Given the description of an element on the screen output the (x, y) to click on. 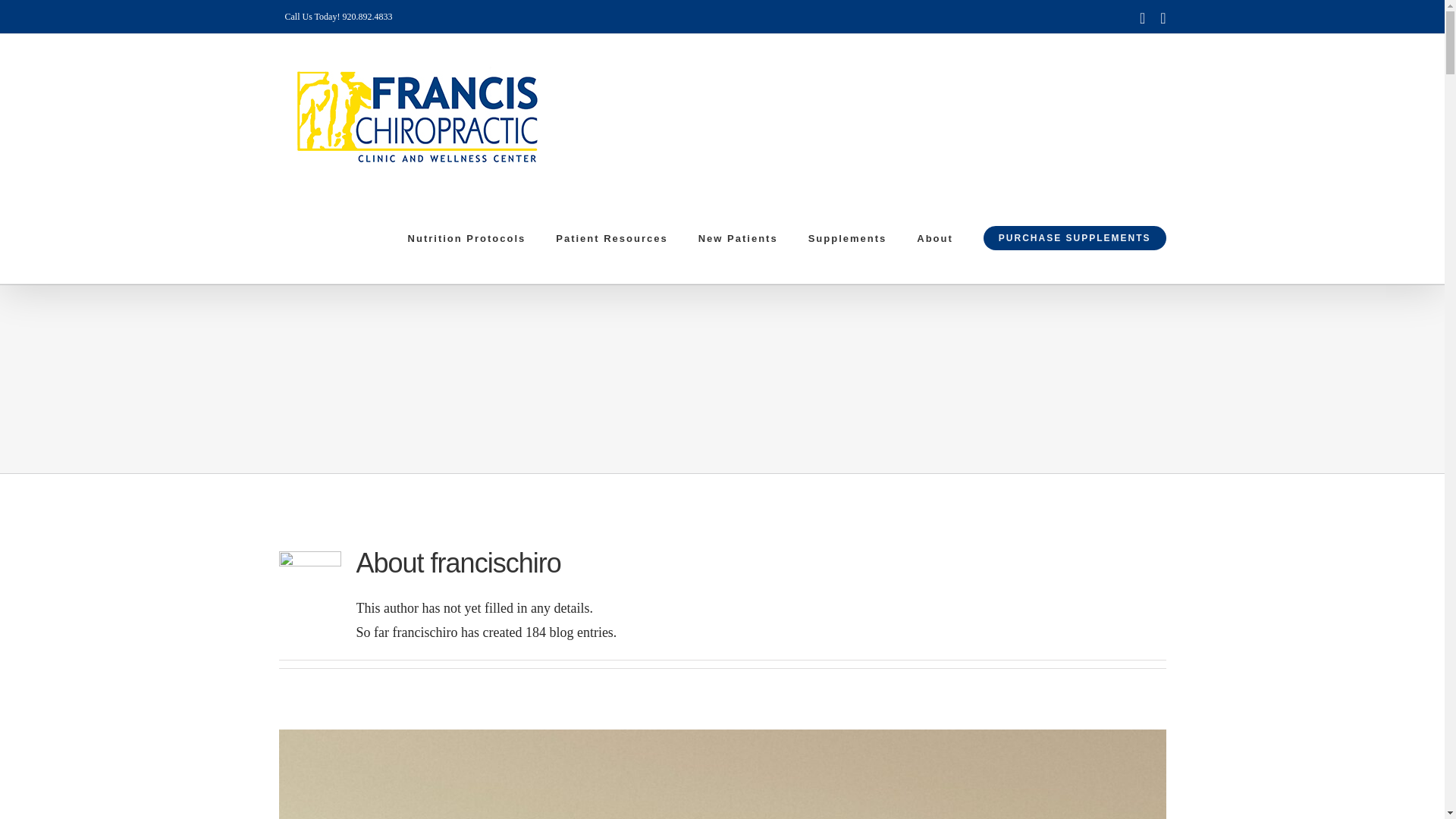
Nutrition Protocols (466, 237)
Patient Resources (611, 237)
PURCHASE SUPPLEMENTS (1075, 237)
